Given the description of an element on the screen output the (x, y) to click on. 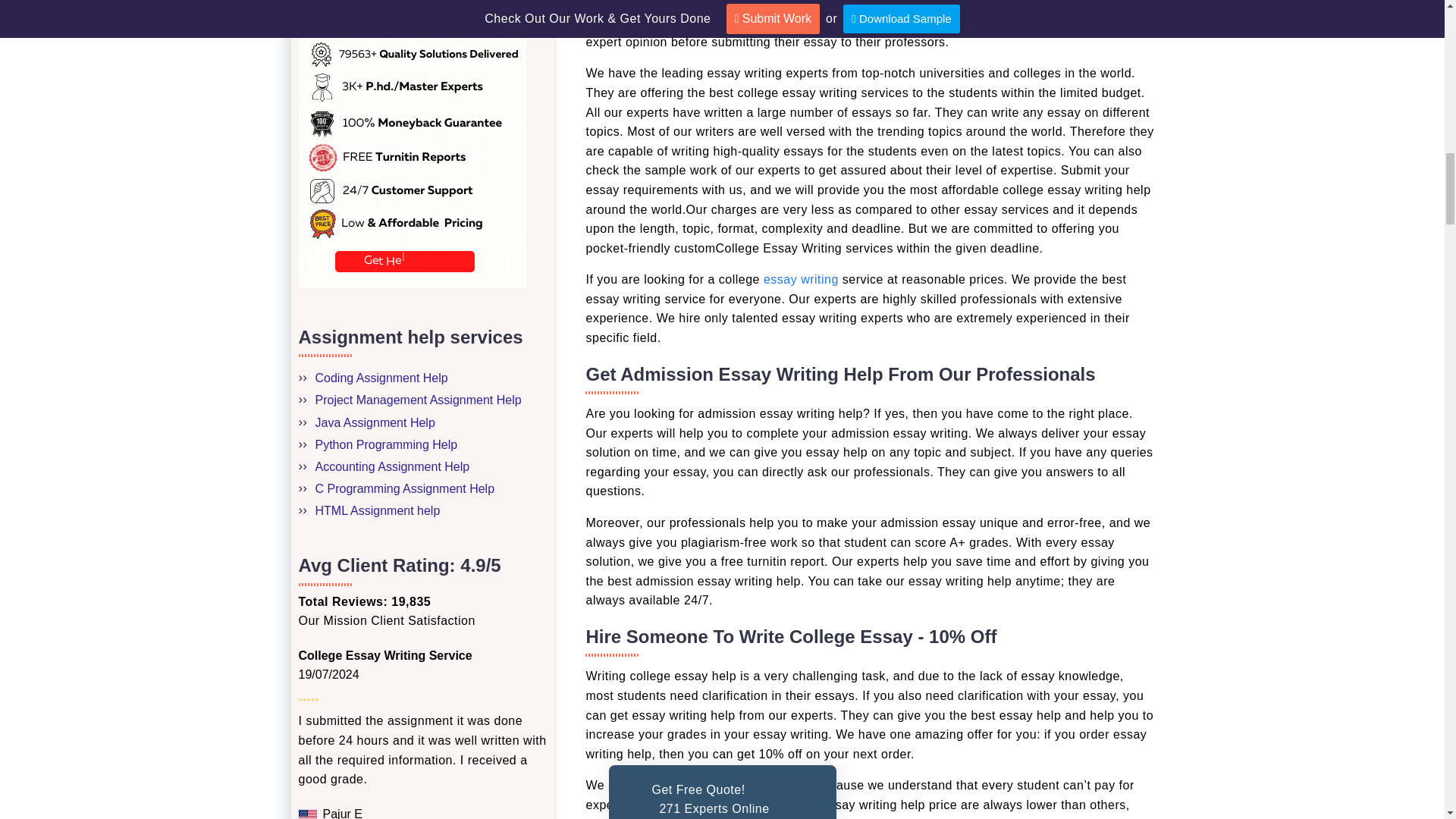
Coding Assignment Help (381, 377)
HTML Assignment help (378, 510)
Java Assignment Help (375, 422)
Accounting Assignment Help (392, 466)
Project Management Assignment Help (418, 399)
Python Programming Help (386, 444)
C Programming Assignment Help (405, 488)
